Given the description of an element on the screen output the (x, y) to click on. 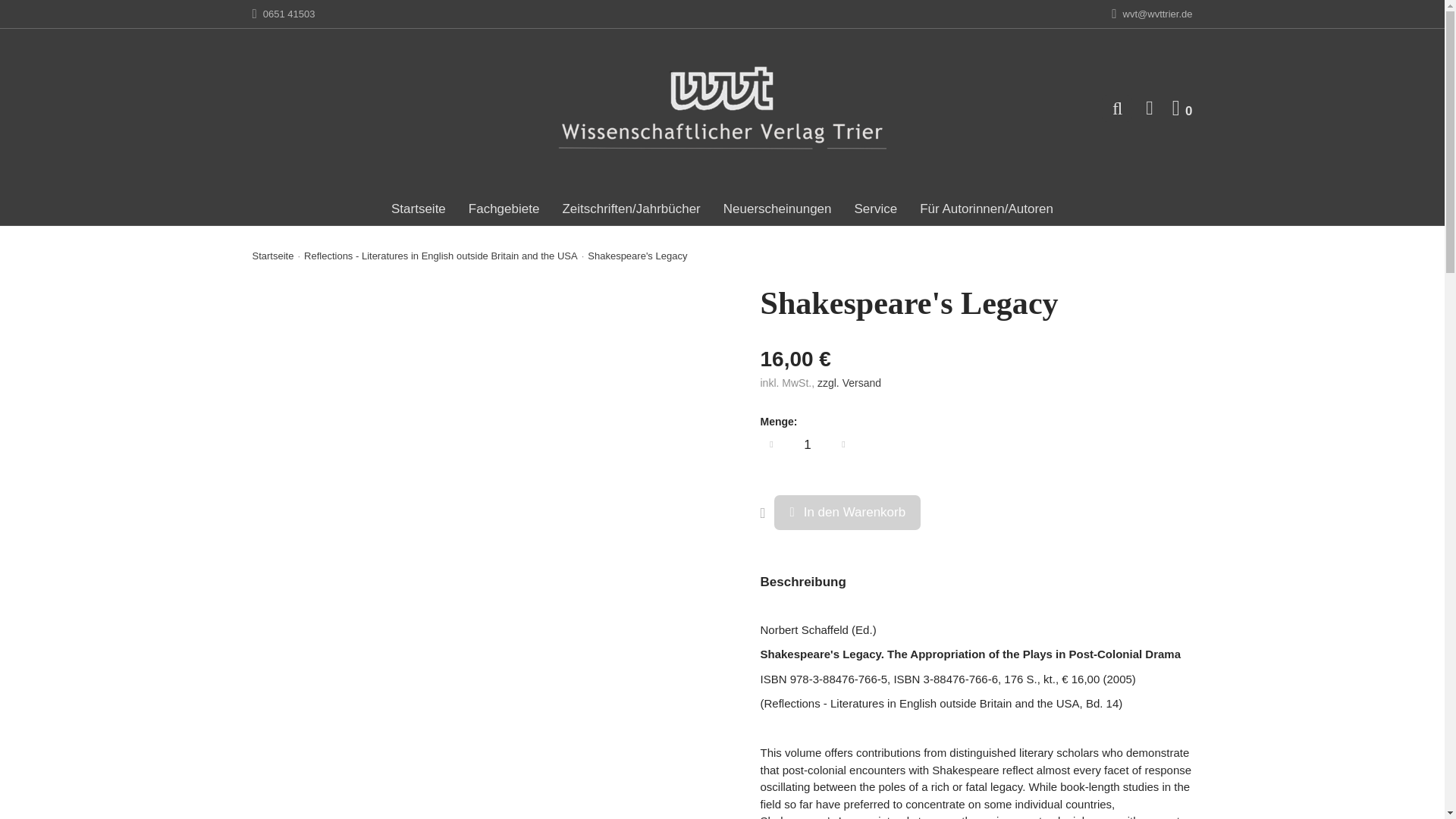
In den Warenkorb (847, 512)
Startseite (418, 209)
WVT - Wissenschaftlicher Verlag Trier (721, 108)
Service (874, 209)
Startseite (272, 255)
1 (1182, 107)
zzgl. Versand (807, 444)
Fachgebiete (848, 382)
Neuerscheinungen (504, 209)
